Given the description of an element on the screen output the (x, y) to click on. 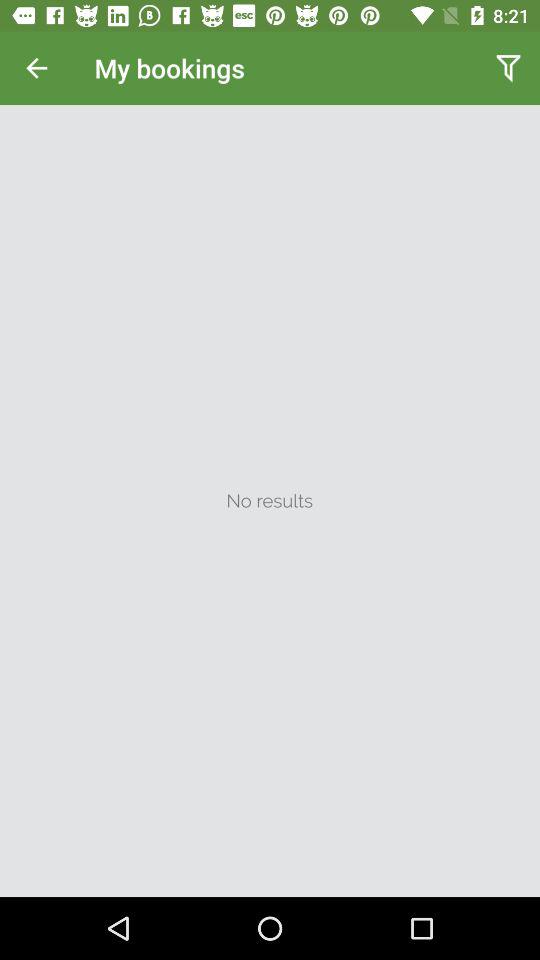
click app next to the my bookings app (36, 68)
